Given the description of an element on the screen output the (x, y) to click on. 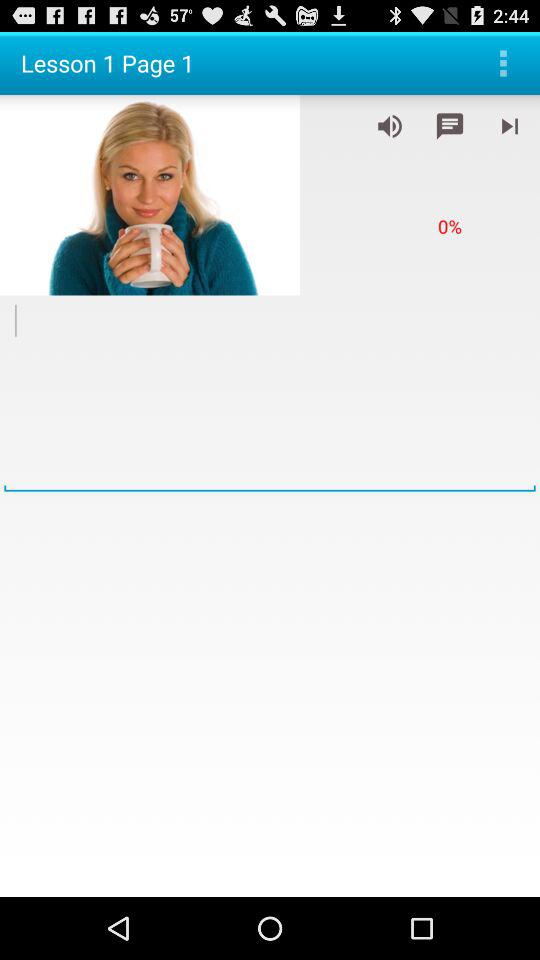
adjust volume (390, 125)
